Given the description of an element on the screen output the (x, y) to click on. 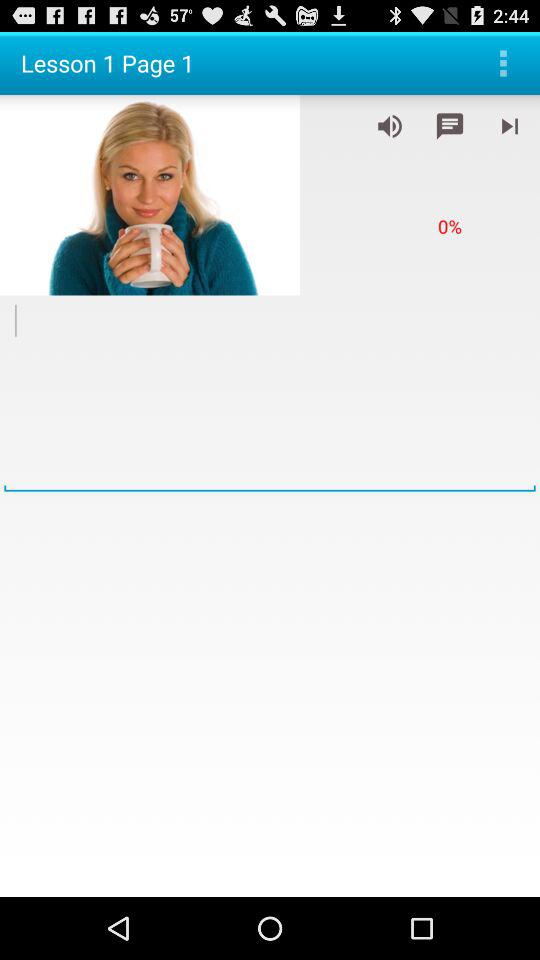
adjust volume (390, 125)
